Given the description of an element on the screen output the (x, y) to click on. 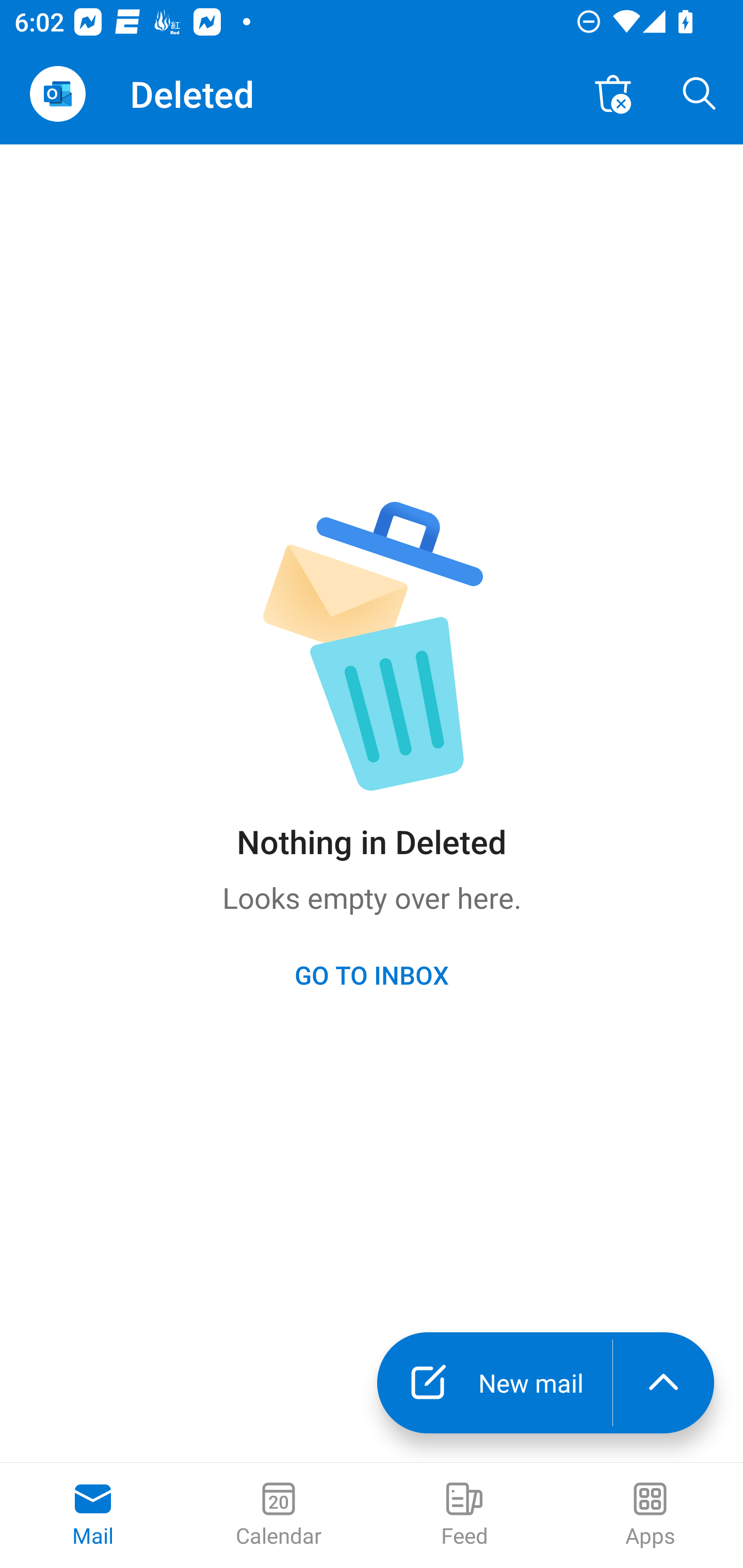
Empty Deleted (612, 93)
Search, ,  (699, 93)
Close Navigation Drawer (57, 94)
GO TO INBOX (371, 974)
New mail (494, 1382)
launch the extended action menu (663, 1382)
Calendar (278, 1515)
Feed (464, 1515)
Apps (650, 1515)
